Given the description of an element on the screen output the (x, y) to click on. 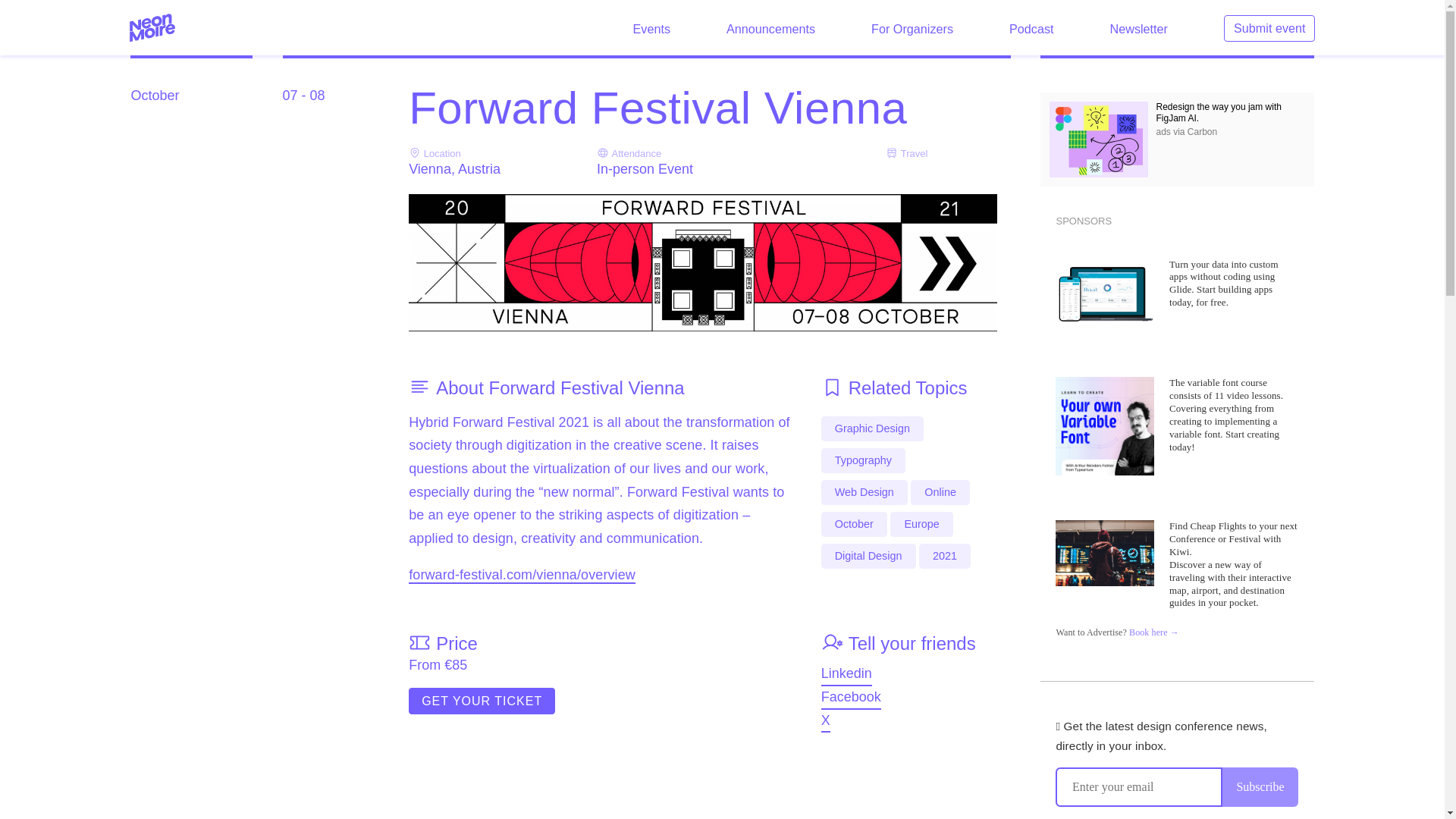
Buy ticket (481, 700)
For organizers (911, 28)
Announcements (770, 28)
Submit event (1269, 27)
Online (940, 492)
Digital Design (868, 555)
GET YOUR TICKET (481, 700)
Podcast (1031, 28)
Sign up to our weekly newsletter (1138, 28)
Typography (863, 460)
Newsletter (1138, 28)
Web Design (864, 492)
